Given the description of an element on the screen output the (x, y) to click on. 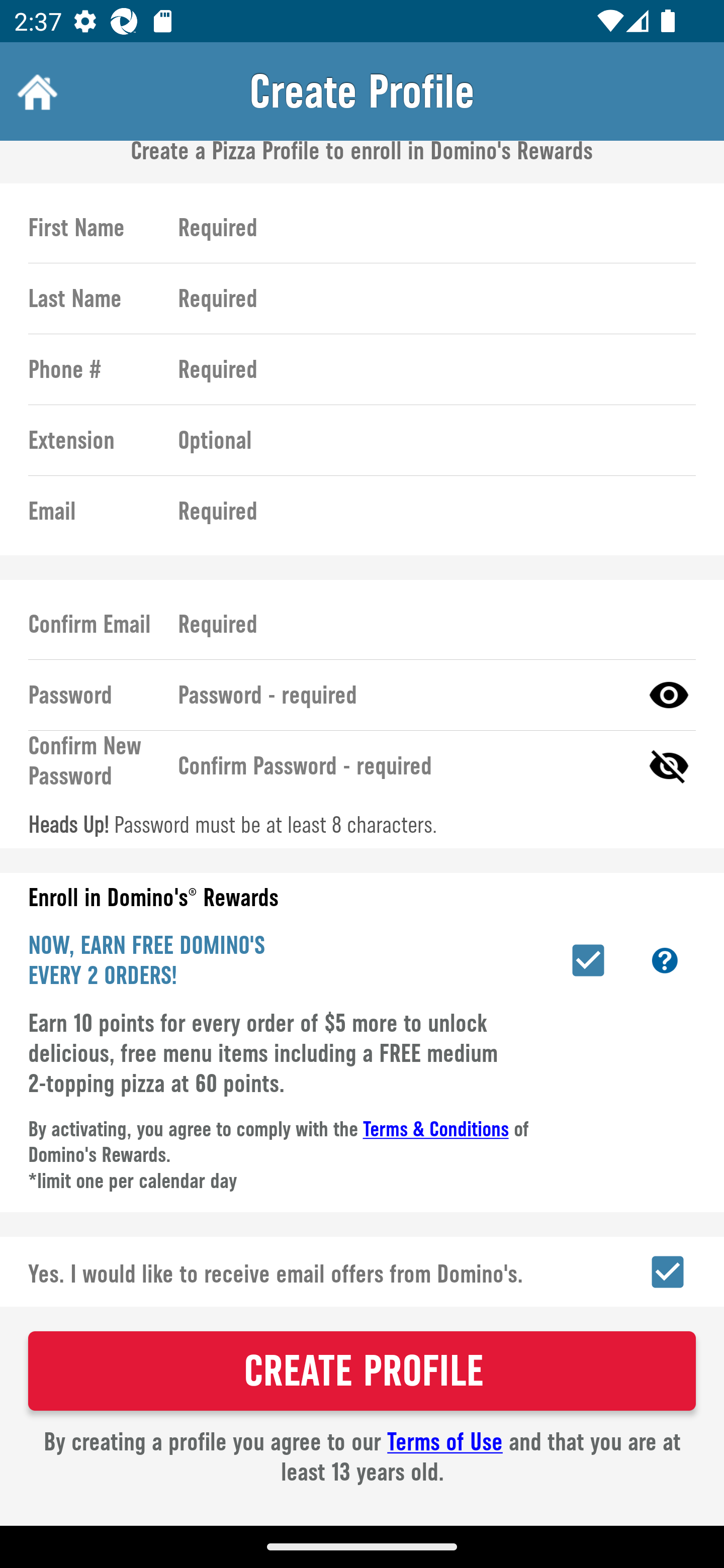
Home (35, 91)
Required First Name is required. 
 (427, 227)
Required Last Name is required. 
 (427, 298)
Required Phone Number is required. 
 (427, 368)
Optional Phone extension, optional (427, 439)
Required Email is required. 
 (427, 510)
Required Confirm Email Address (427, 624)
Password - required (401, 695)
Show Password (668, 695)
Confirm Password - required (401, 765)
Hide Password (668, 765)
Enroll in Piece of the Pie Rewards (588, 959)
CREATE PROFILE (361, 1371)
